Given the description of an element on the screen output the (x, y) to click on. 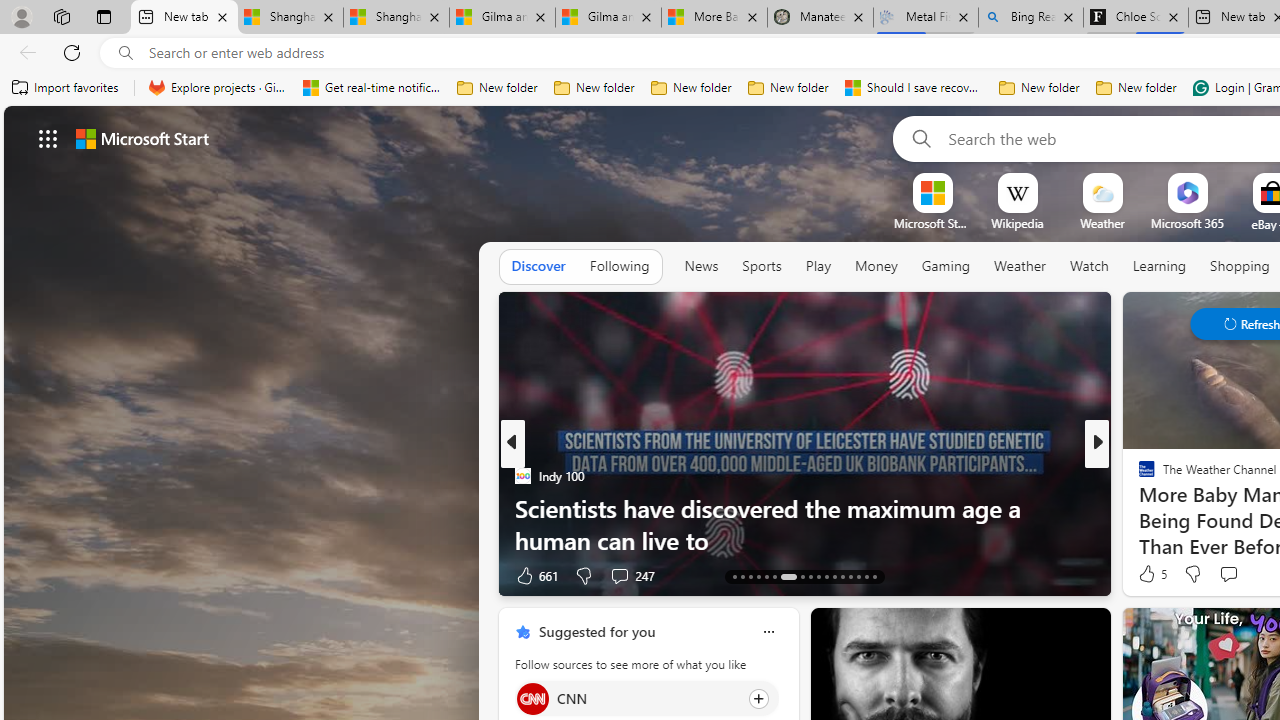
View comments 7 Comment (1234, 574)
Indy 100 (522, 475)
Suggested for you (596, 631)
146 Like (1151, 574)
View comments 2 Comment (1229, 575)
93 Like (1149, 574)
The Verge (1138, 475)
151 Like (1151, 574)
AutomationID: tab-16 (757, 576)
Shopping (1240, 265)
View comments 1 Comment (1229, 575)
CNBC (1138, 475)
